Given the description of an element on the screen output the (x, y) to click on. 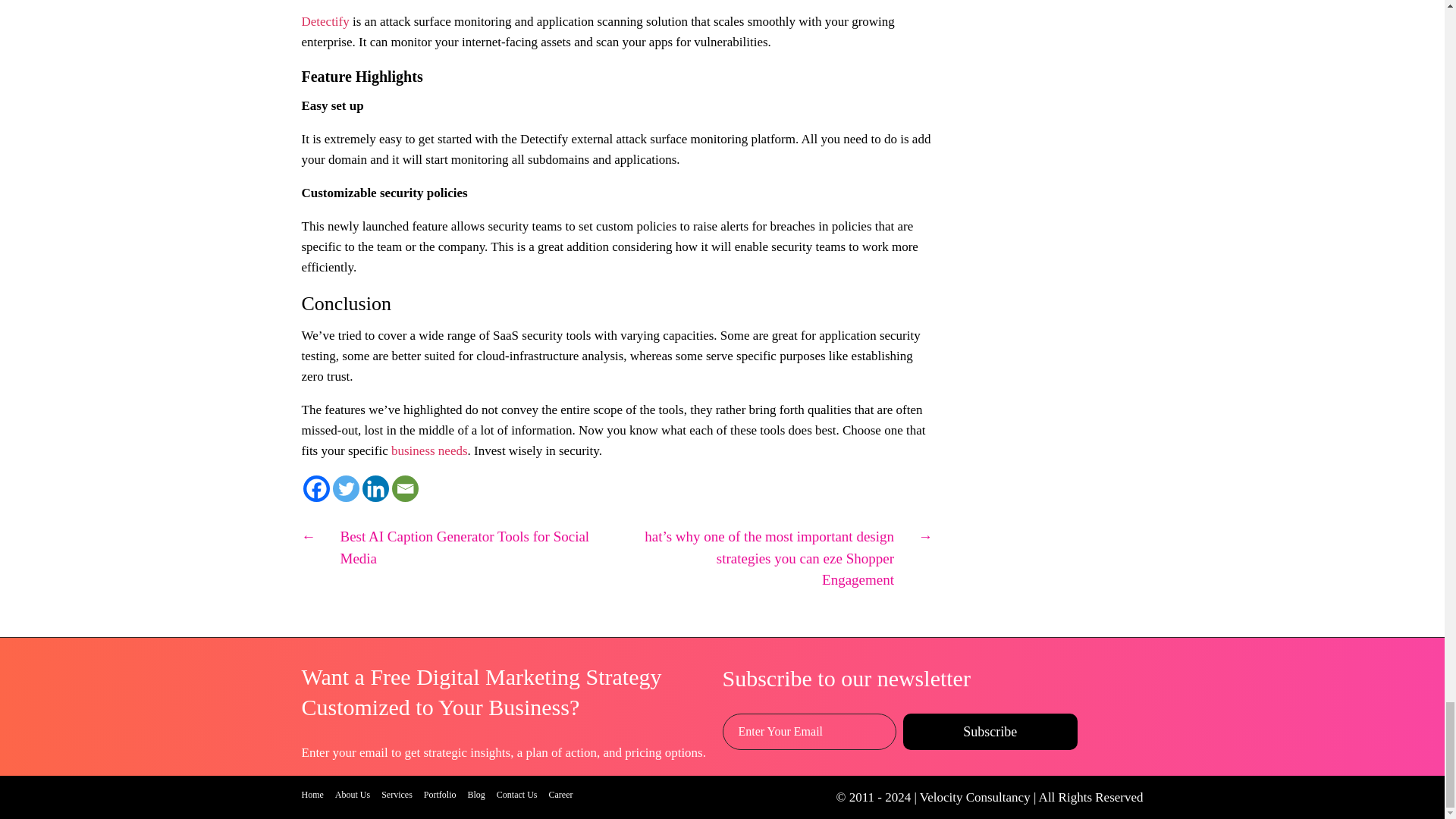
Twitter (344, 488)
Email (404, 488)
Subscribe (989, 731)
Linkedin (375, 488)
Facebook (316, 488)
